Given the description of an element on the screen output the (x, y) to click on. 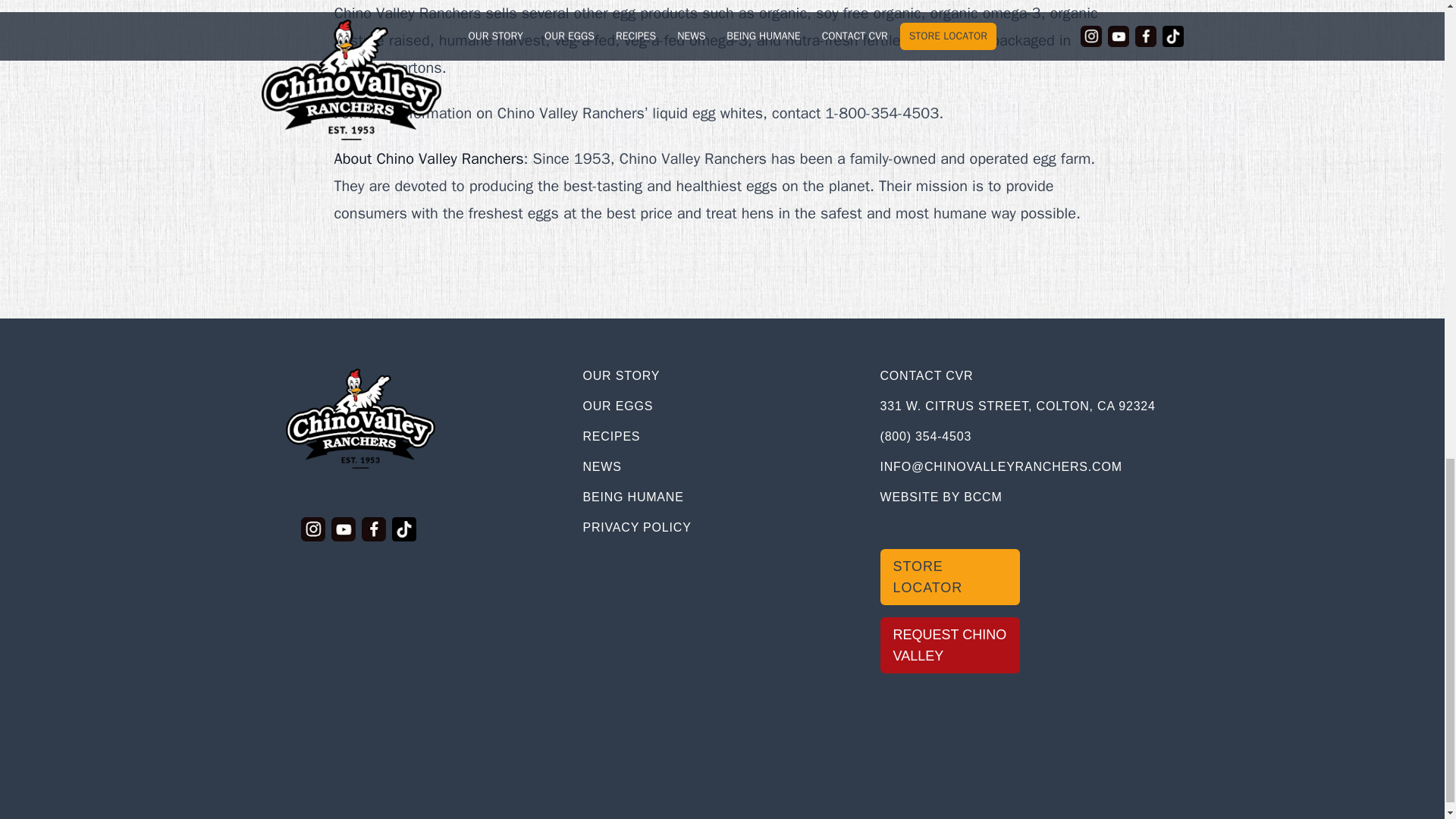
WEBSITE BY BCCM (940, 496)
331 W. CITRUS STREET, COLTON, CA 92324 (1016, 405)
REQUEST CHINO VALLEY (949, 645)
BEING HUMANE (632, 496)
CONTACT CVR (925, 375)
PRIVACY POLICY (636, 526)
OUR STORY (620, 375)
STORE LOCATOR (949, 576)
RECIPES (611, 436)
OUR EGGS (617, 405)
NEWS (601, 466)
